Given the description of an element on the screen output the (x, y) to click on. 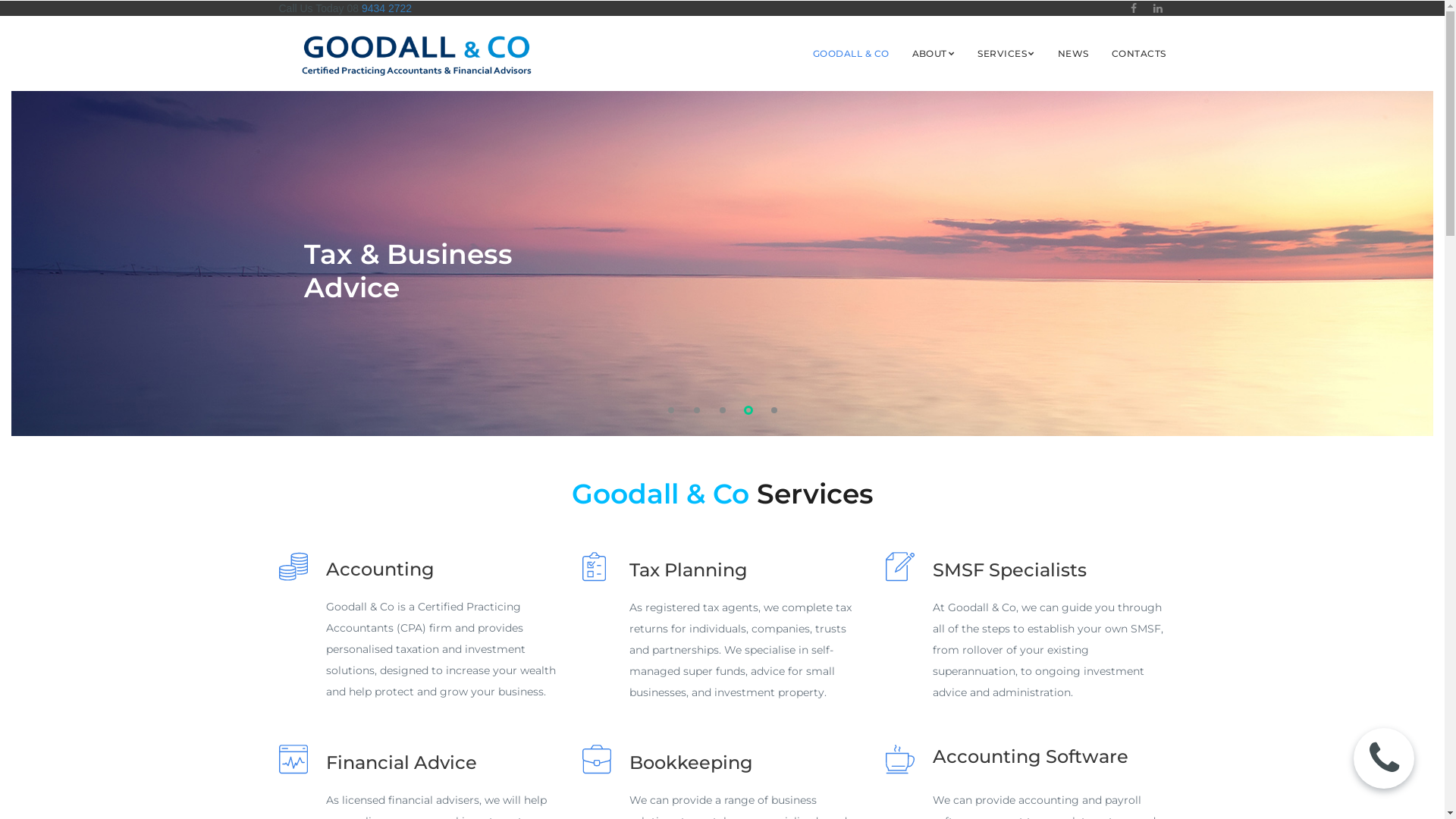
2 Element type: text (696, 410)
CONTACTS Element type: text (1138, 53)
SMSF Specialists Element type: text (1009, 569)
Bookkeeping Element type: text (691, 762)
GOODALL & CO Element type: text (850, 53)
Accounting Element type: text (380, 569)
9434 2722 Element type: text (384, 8)
ABOUT Element type: text (933, 53)
NEWS Element type: text (1072, 53)
SERVICES Element type: text (1005, 53)
Financial Advice Element type: text (401, 762)
5 Element type: text (773, 410)
Tax Planning Element type: text (688, 569)
3 Element type: text (721, 410)
4 Element type: text (746, 408)
1 Element type: text (670, 410)
Accounting Software Element type: text (1030, 756)
